Given the description of an element on the screen output the (x, y) to click on. 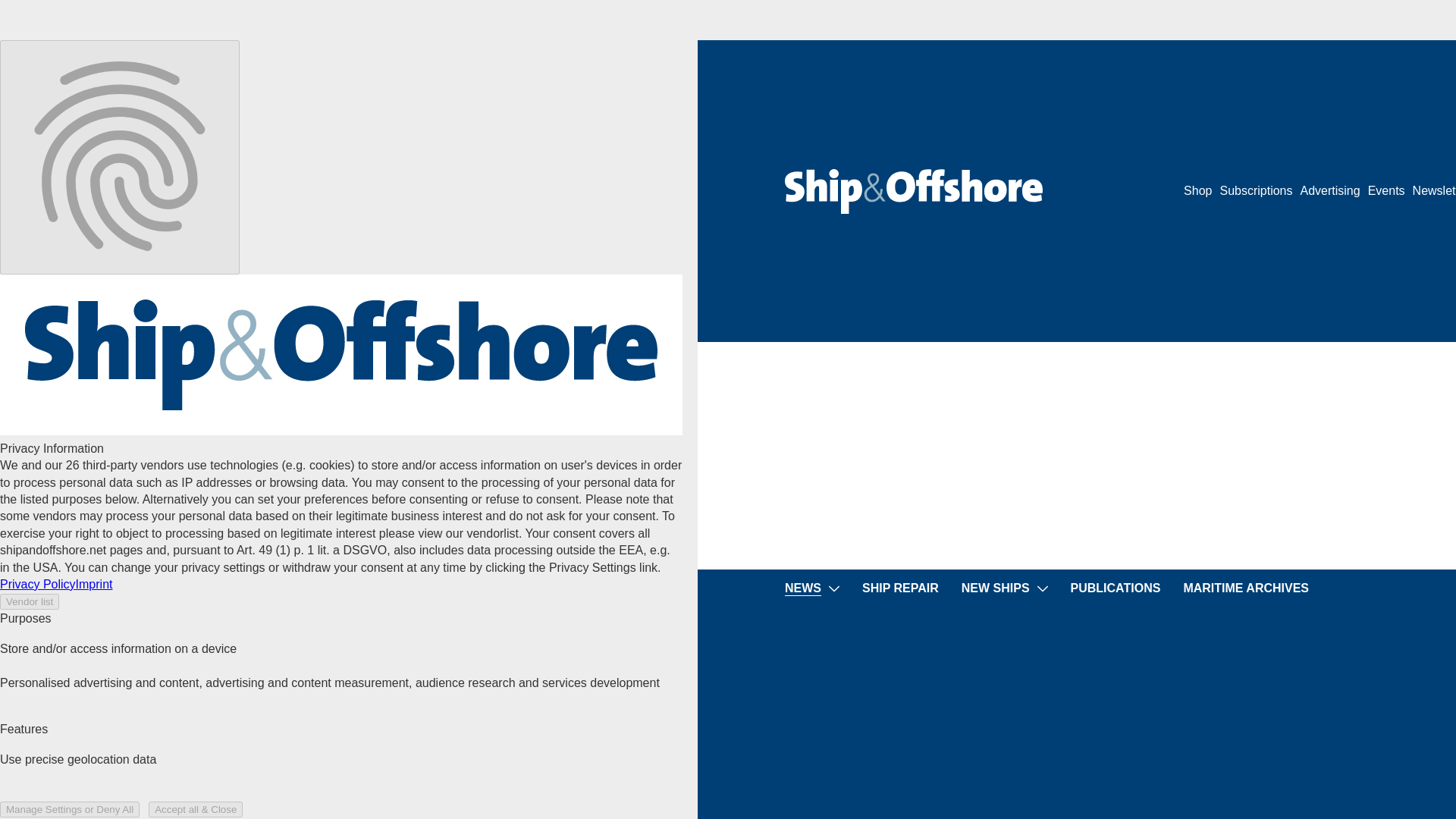
Shop (1197, 190)
Events (1386, 190)
Newsletter (1434, 190)
MARITIME ARCHIVES (1245, 588)
Maritime Archives (1245, 588)
NEW SHIPS (994, 588)
News (802, 588)
ShipAndOffshore (913, 190)
Advertising (1329, 190)
Subscriptions (1256, 190)
NEWS (802, 588)
New Ships (994, 588)
Publications (1115, 588)
SHIP REPAIR (900, 588)
Ship Repair (900, 588)
